Given the description of an element on the screen output the (x, y) to click on. 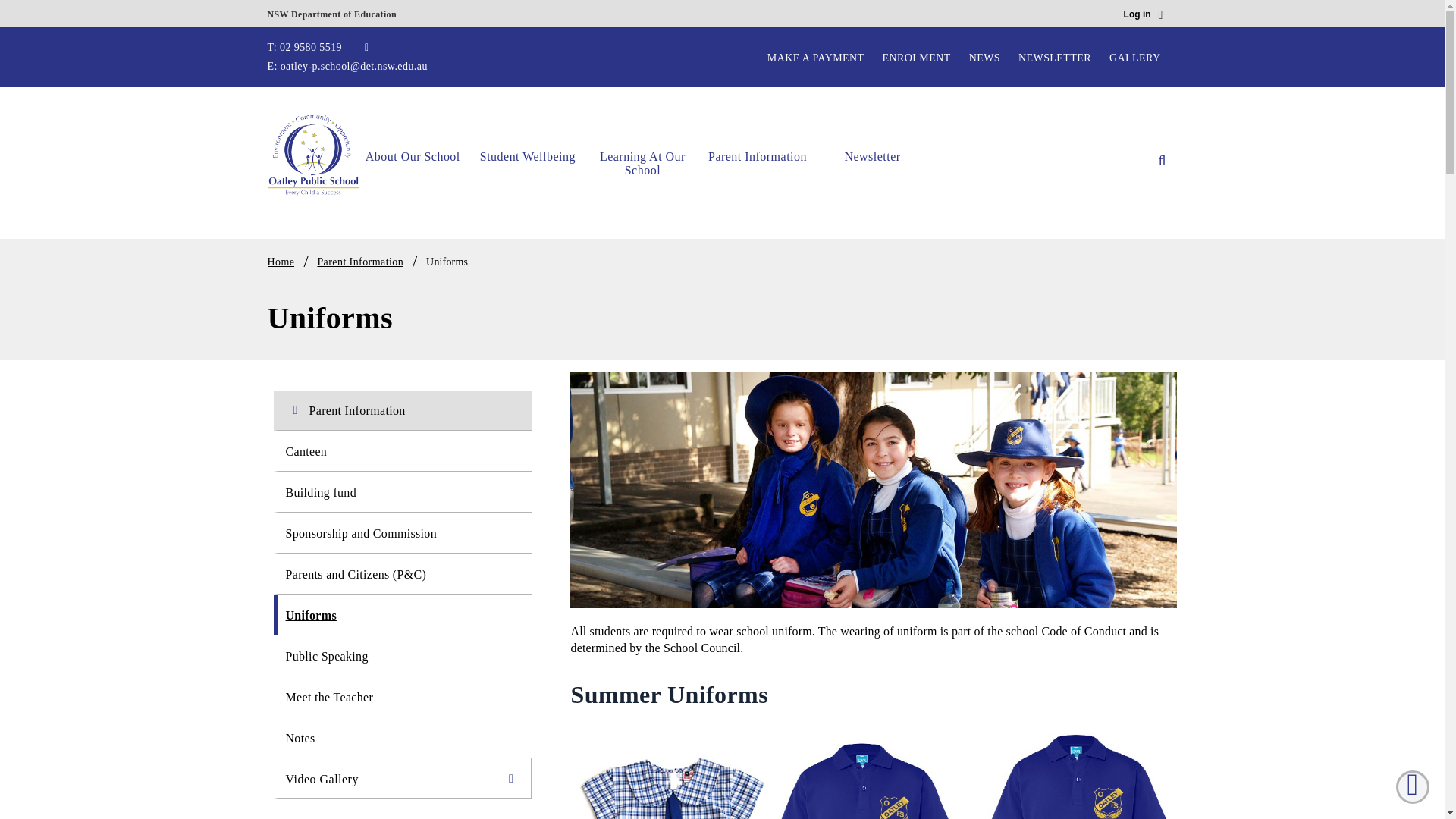
NSW Department of Education (331, 10)
Log in (1143, 14)
